Given the description of an element on the screen output the (x, y) to click on. 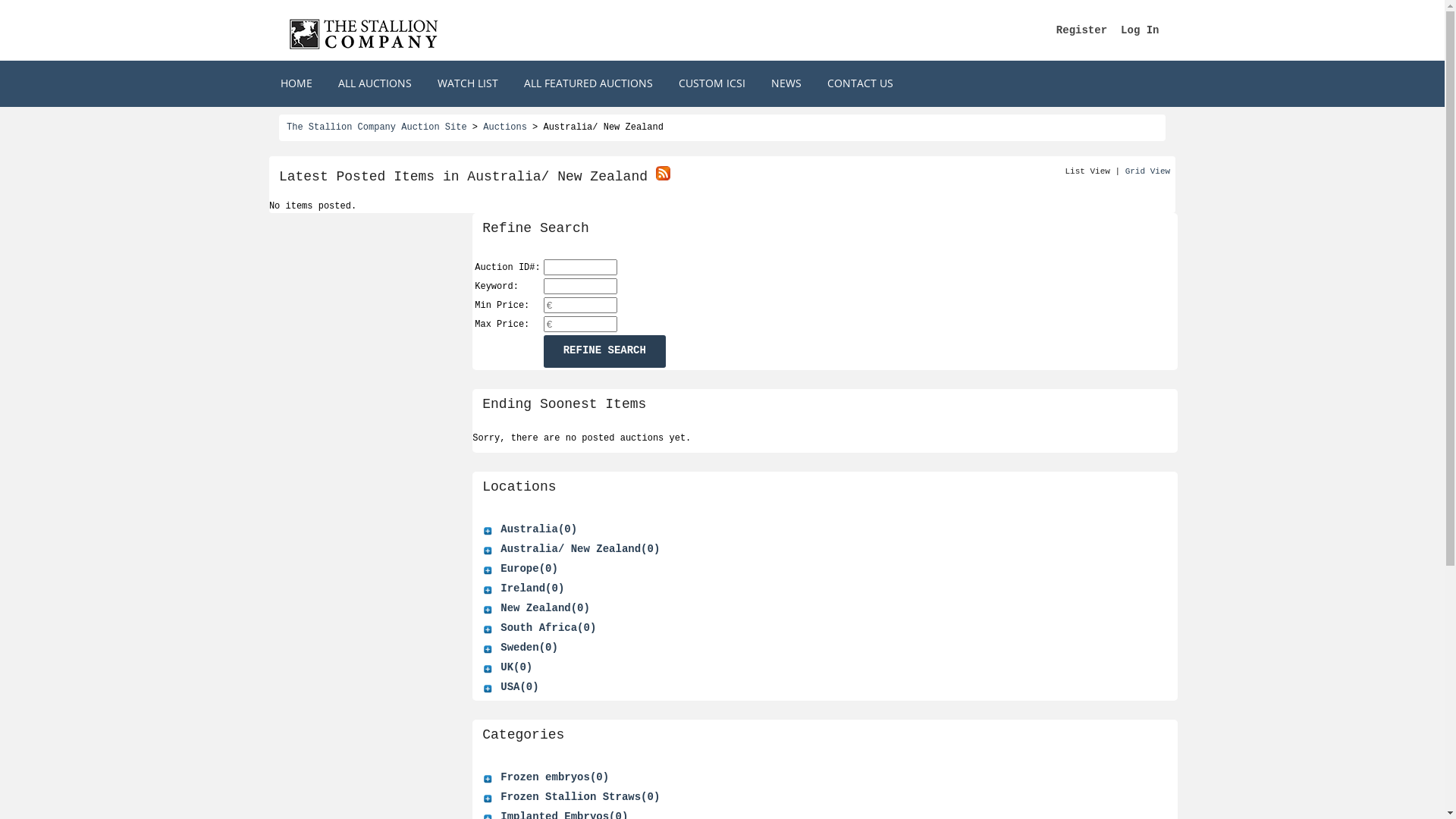
CONTACT US Element type: text (860, 83)
Auctions Element type: text (505, 127)
Frozen Stallion Straws(0) Element type: text (579, 796)
Europe(0) Element type: text (529, 568)
Frozen embryos(0) Element type: text (554, 777)
USA(0) Element type: text (519, 686)
New Zealand(0) Element type: text (544, 608)
Ireland(0) Element type: text (532, 588)
Log In Element type: text (1139, 30)
Register Element type: text (1081, 30)
CUSTOM ICSI Element type: text (711, 83)
Refine Search Element type: text (604, 351)
ALL FEATURED AUCTIONS Element type: text (588, 83)
The Stallion Company Auction Site Element type: text (376, 127)
ALL AUCTIONS Element type: text (373, 83)
Sweden(0) Element type: text (529, 647)
Grid View Element type: text (1147, 170)
WATCH LIST Element type: text (467, 83)
Australia(0) Element type: text (538, 529)
HOME Element type: text (295, 83)
NEWS Element type: text (786, 83)
Australia/ New Zealand(0) Element type: text (579, 548)
UK(0) Element type: text (516, 667)
South Africa(0) Element type: text (548, 627)
